Given the description of an element on the screen output the (x, y) to click on. 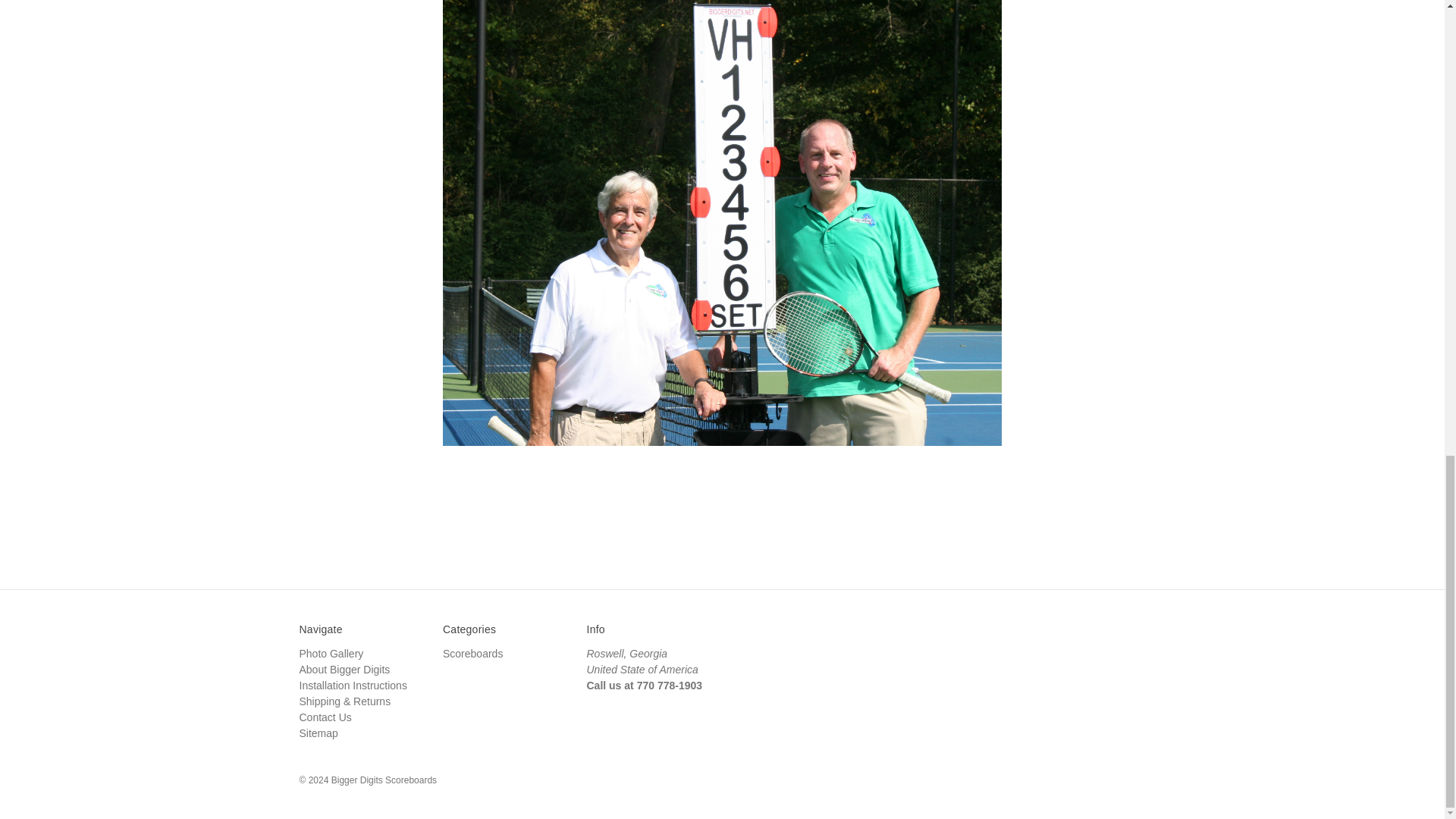
Photo Gallery (330, 653)
Scoreboards (472, 653)
Contact Us (324, 717)
About Bigger Digits (344, 669)
Installation Instructions (352, 685)
Sitemap (317, 733)
